Given the description of an element on the screen output the (x, y) to click on. 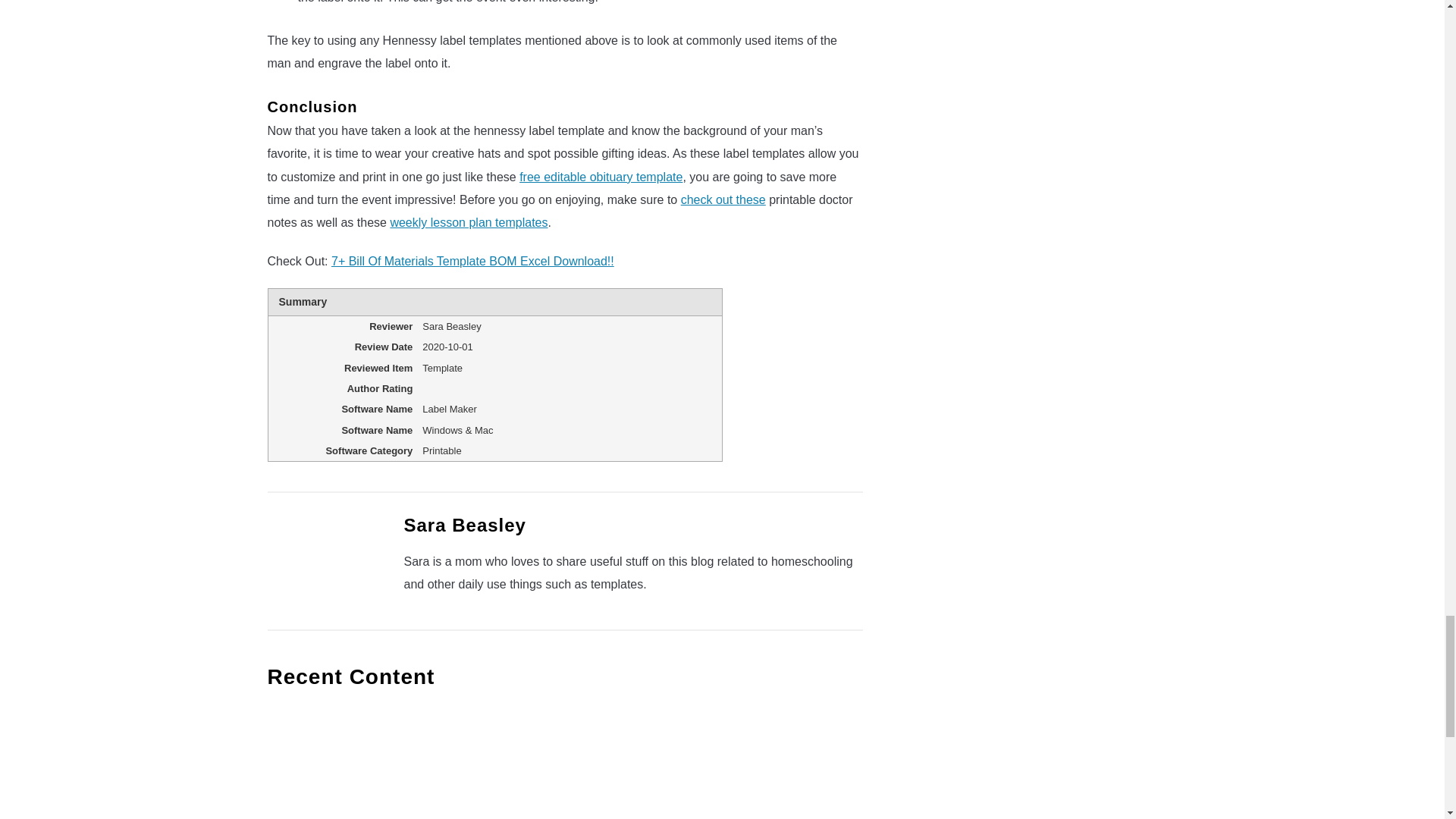
free editable obituary template (600, 176)
check out these (723, 199)
